Given the description of an element on the screen output the (x, y) to click on. 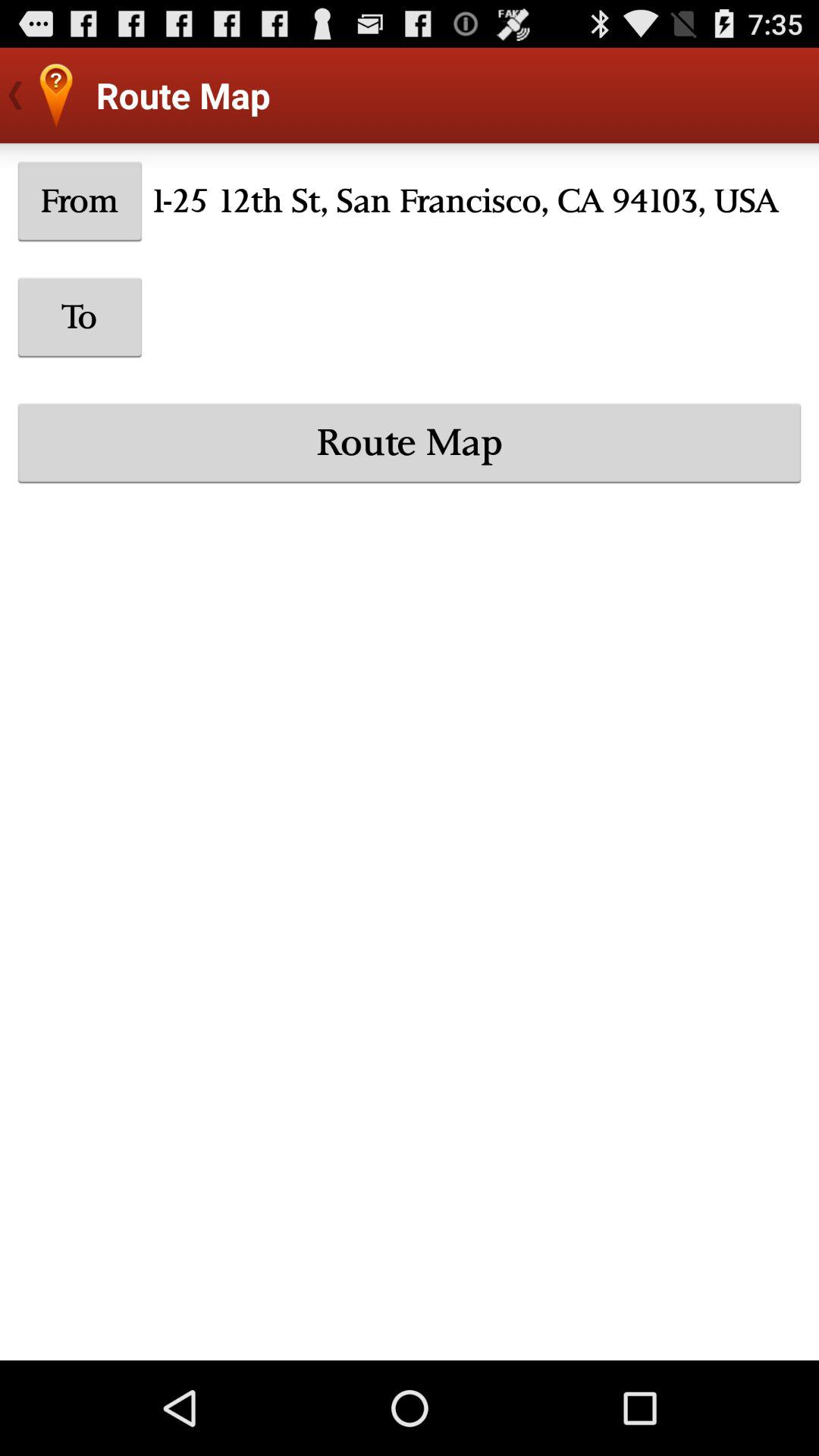
turn off the item below from button (79, 317)
